Given the description of an element on the screen output the (x, y) to click on. 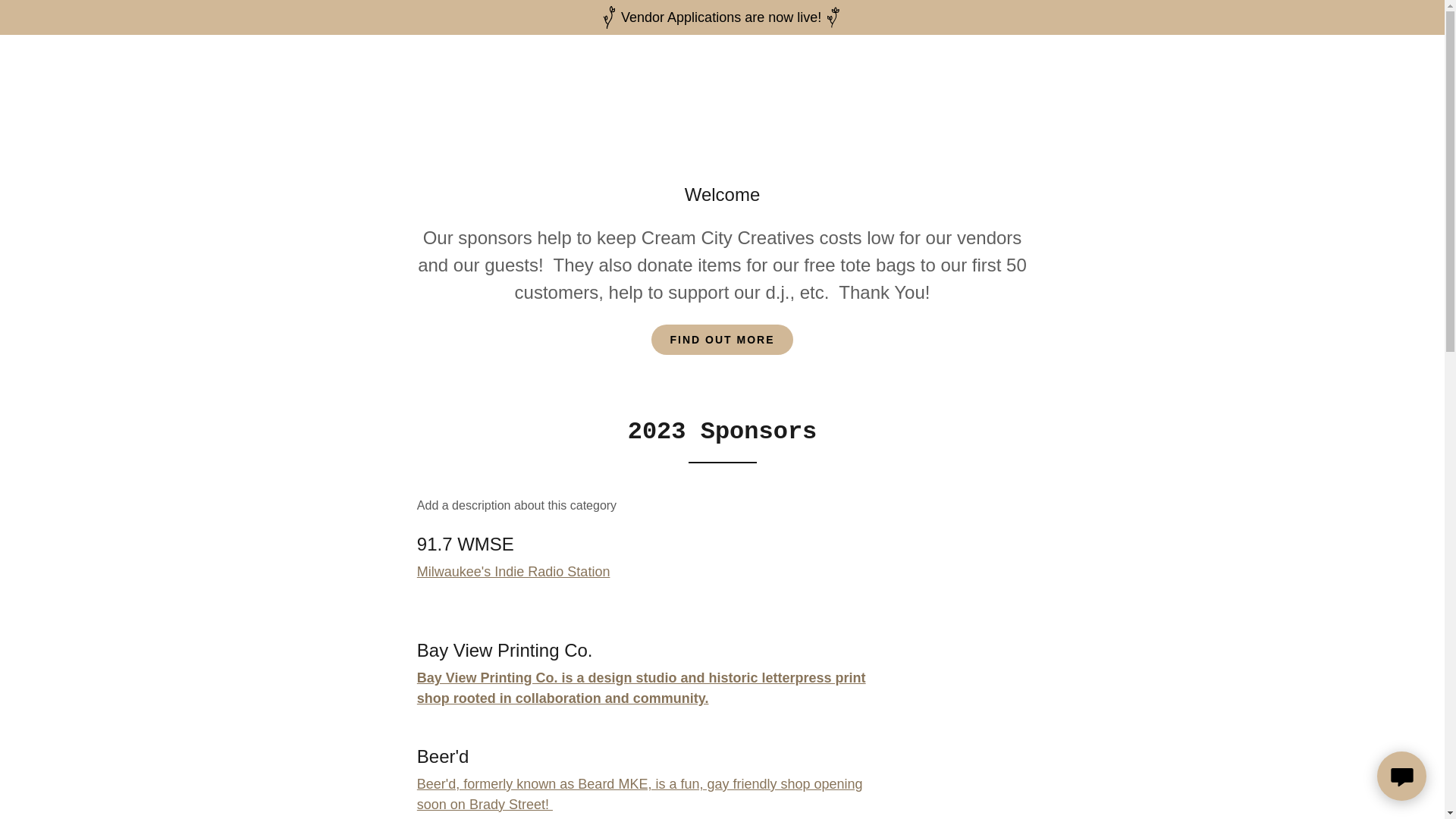
Milwaukee's Indie Radio Station (513, 571)
FIND OUT MORE (721, 339)
